Given the description of an element on the screen output the (x, y) to click on. 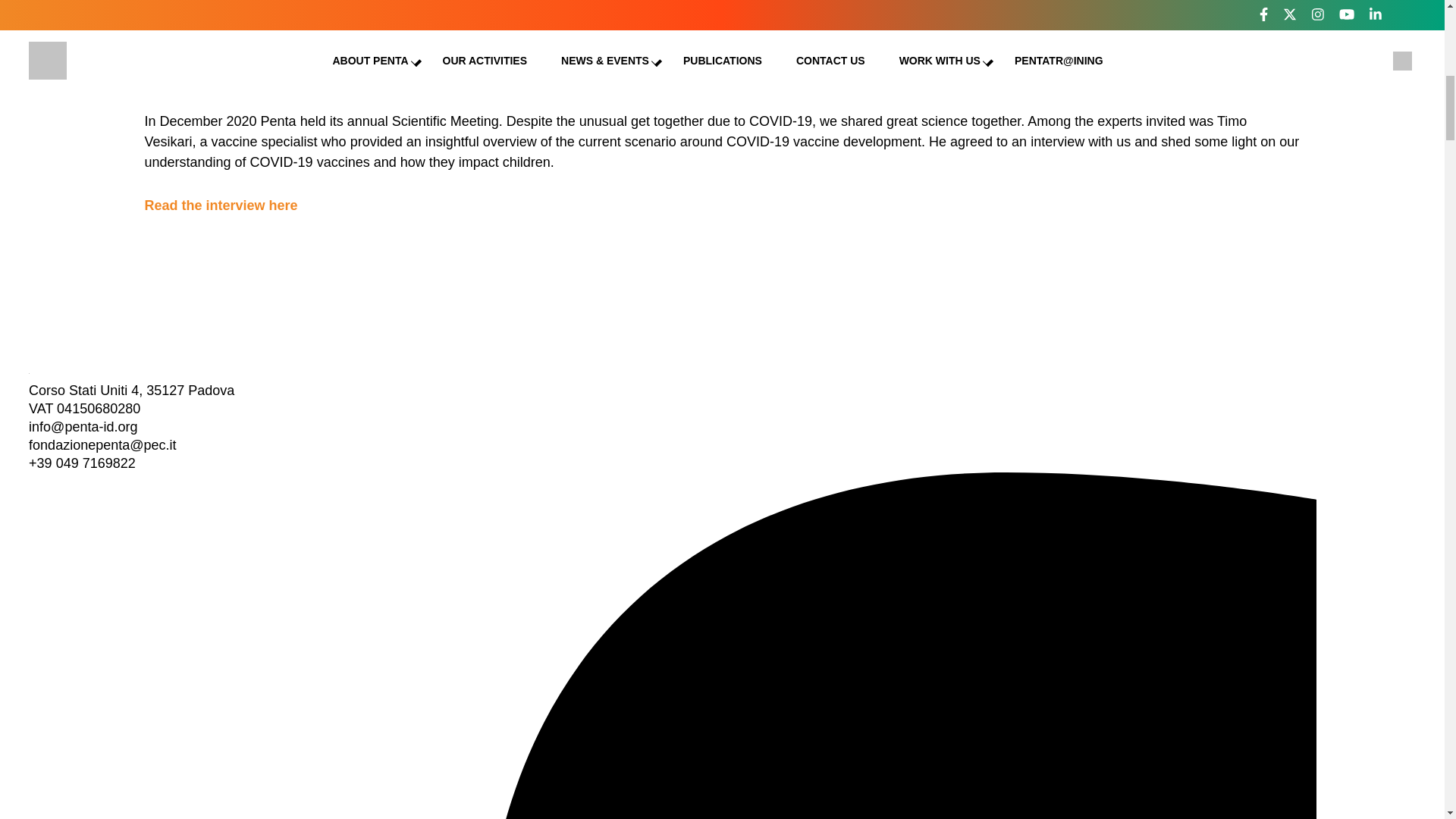
Read the interview here (220, 205)
